Given the description of an element on the screen output the (x, y) to click on. 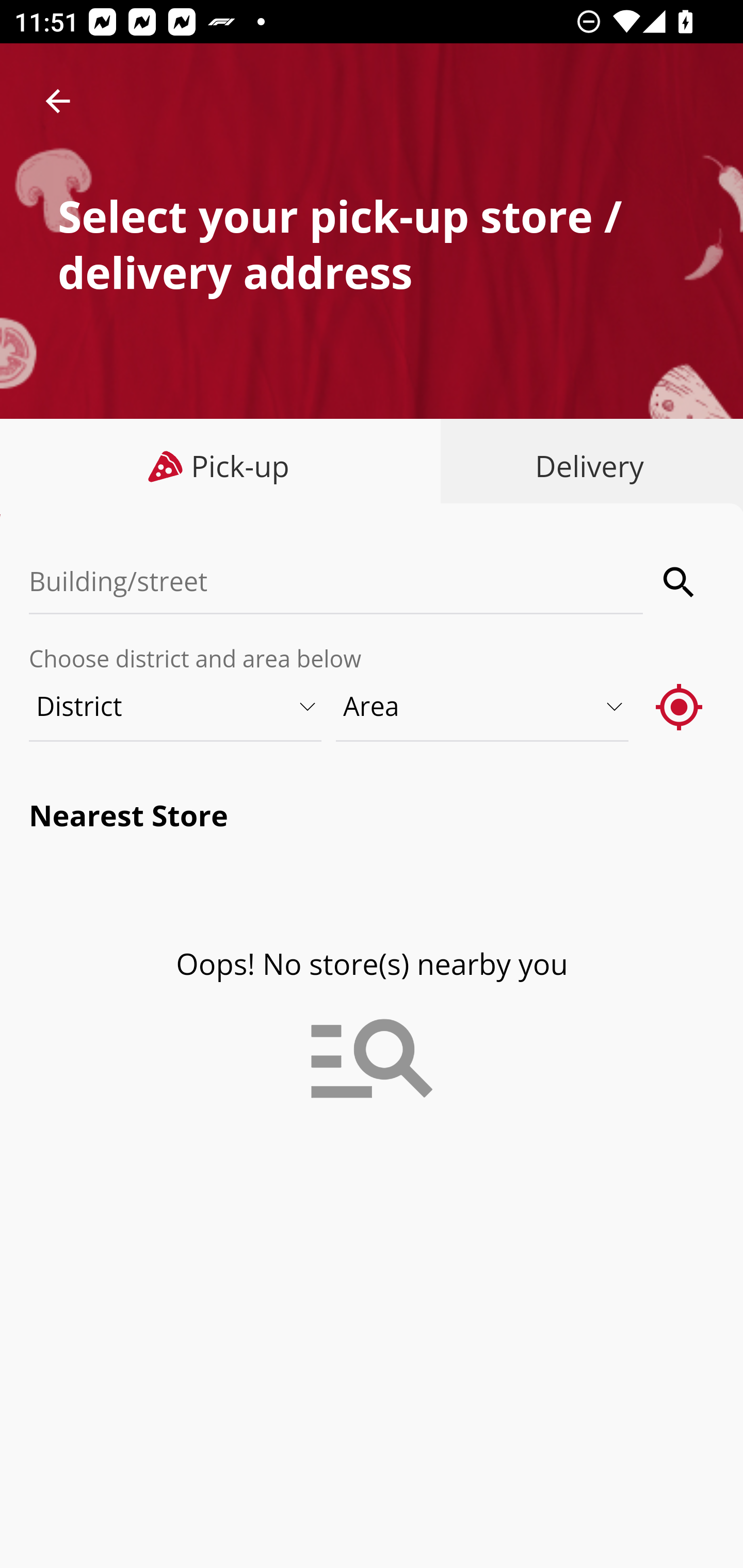
arrow_back (58, 100)
prev next Pick-up Delivery (371, 467)
Delivery (585, 466)
search (679, 582)
gps_fixed (679, 706)
District (175, 706)
Area (482, 706)
